Given the description of an element on the screen output the (x, y) to click on. 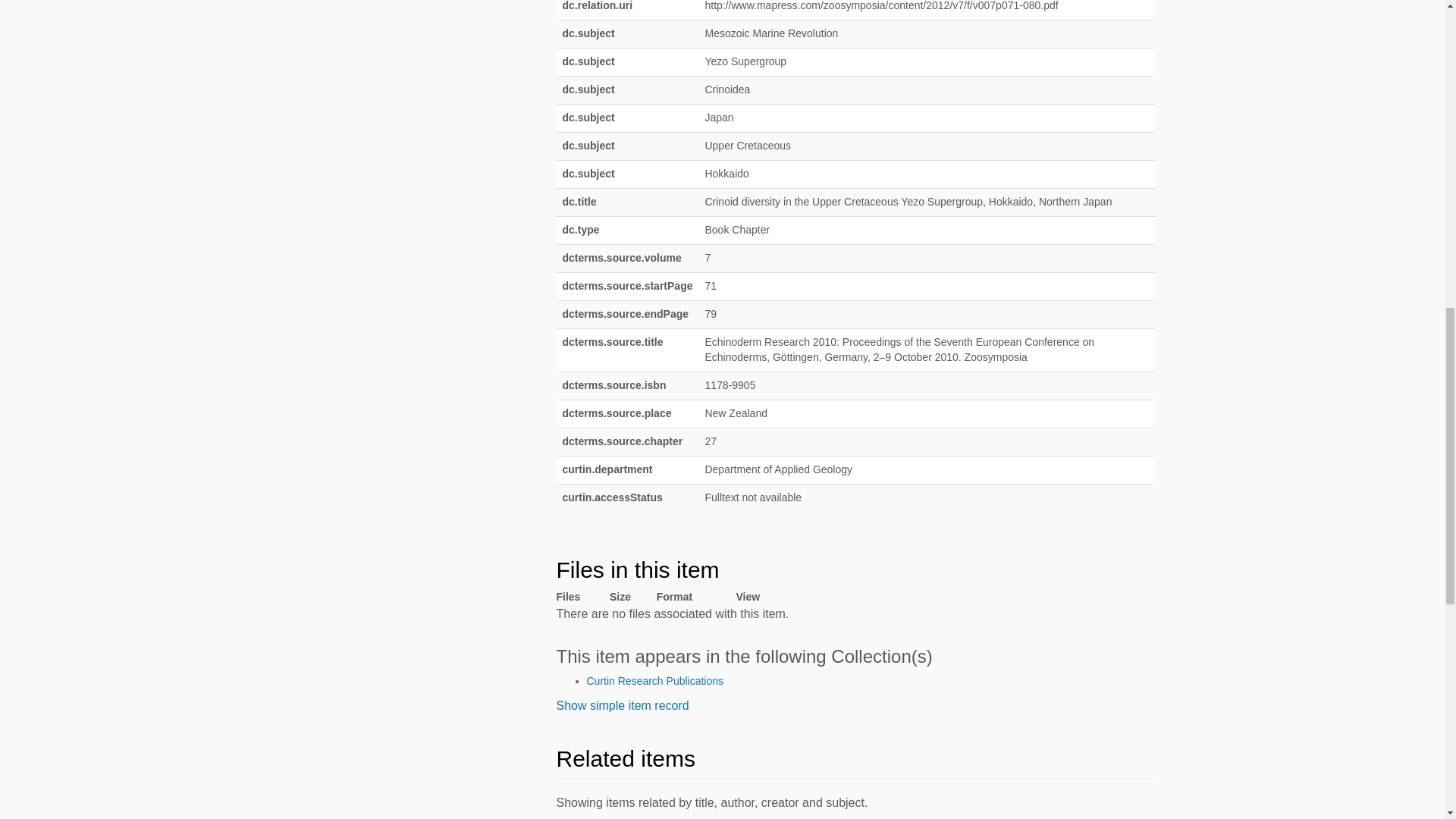
Show simple item record (622, 705)
Curtin Research Publications (654, 680)
